Given the description of an element on the screen output the (x, y) to click on. 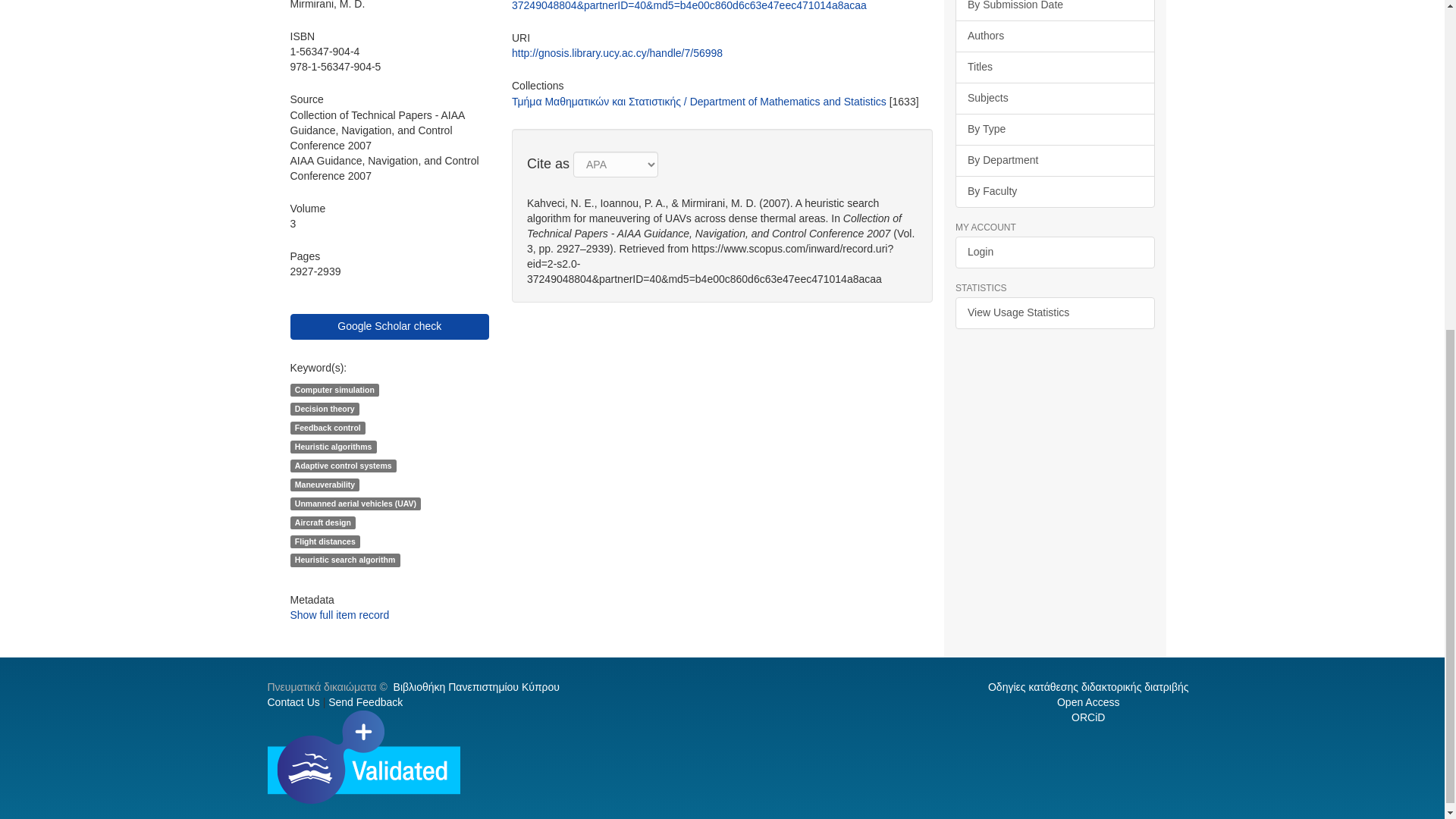
Aircraft design (322, 521)
Feedback control (327, 426)
Adaptive control systems (342, 464)
Heuristic algorithms (332, 445)
Decision theory (323, 408)
Google Scholar check (388, 326)
Heuristic search algorithm (343, 559)
Flight distances (324, 540)
Computer simulation (333, 388)
Show full item record (338, 614)
Maneuverability (324, 483)
